Given the description of an element on the screen output the (x, y) to click on. 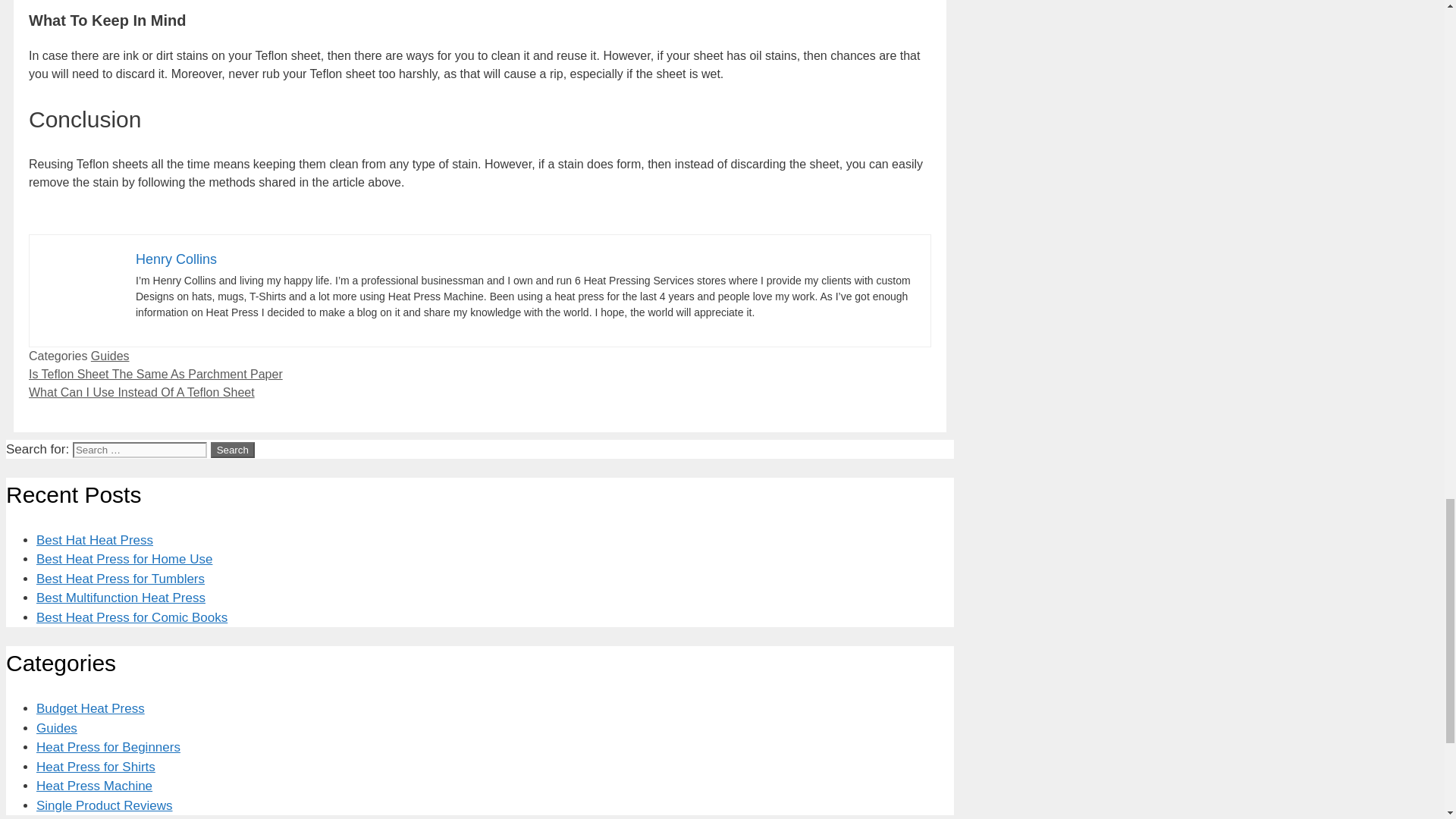
Search (232, 449)
Heat Press for Shirts (95, 766)
Search (232, 449)
Best Heat Press for Tumblers (120, 578)
Heat Press for Beginners (108, 747)
Search for: (139, 449)
Best Multifunction Heat Press (120, 597)
Henry Collins (175, 258)
Budget Heat Press (90, 708)
Single Product Reviews (104, 805)
